Given the description of an element on the screen output the (x, y) to click on. 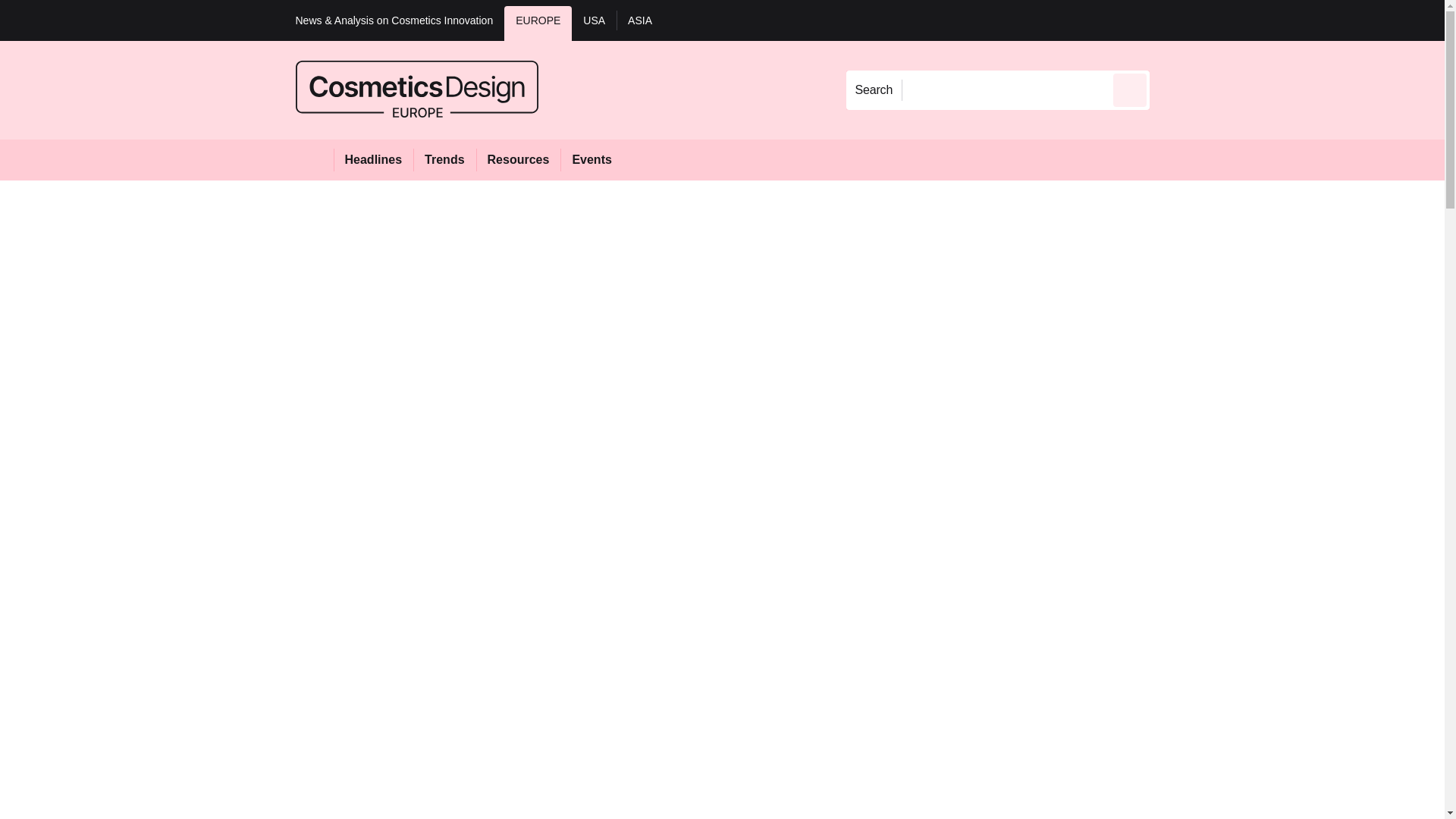
Send (1129, 90)
USA (593, 22)
Headlines (373, 159)
Home (313, 159)
Trends (444, 159)
Sign in (1171, 20)
My account (1256, 20)
EUROPE (537, 22)
REGISTER (1250, 20)
Sign out (1174, 20)
